Given the description of an element on the screen output the (x, y) to click on. 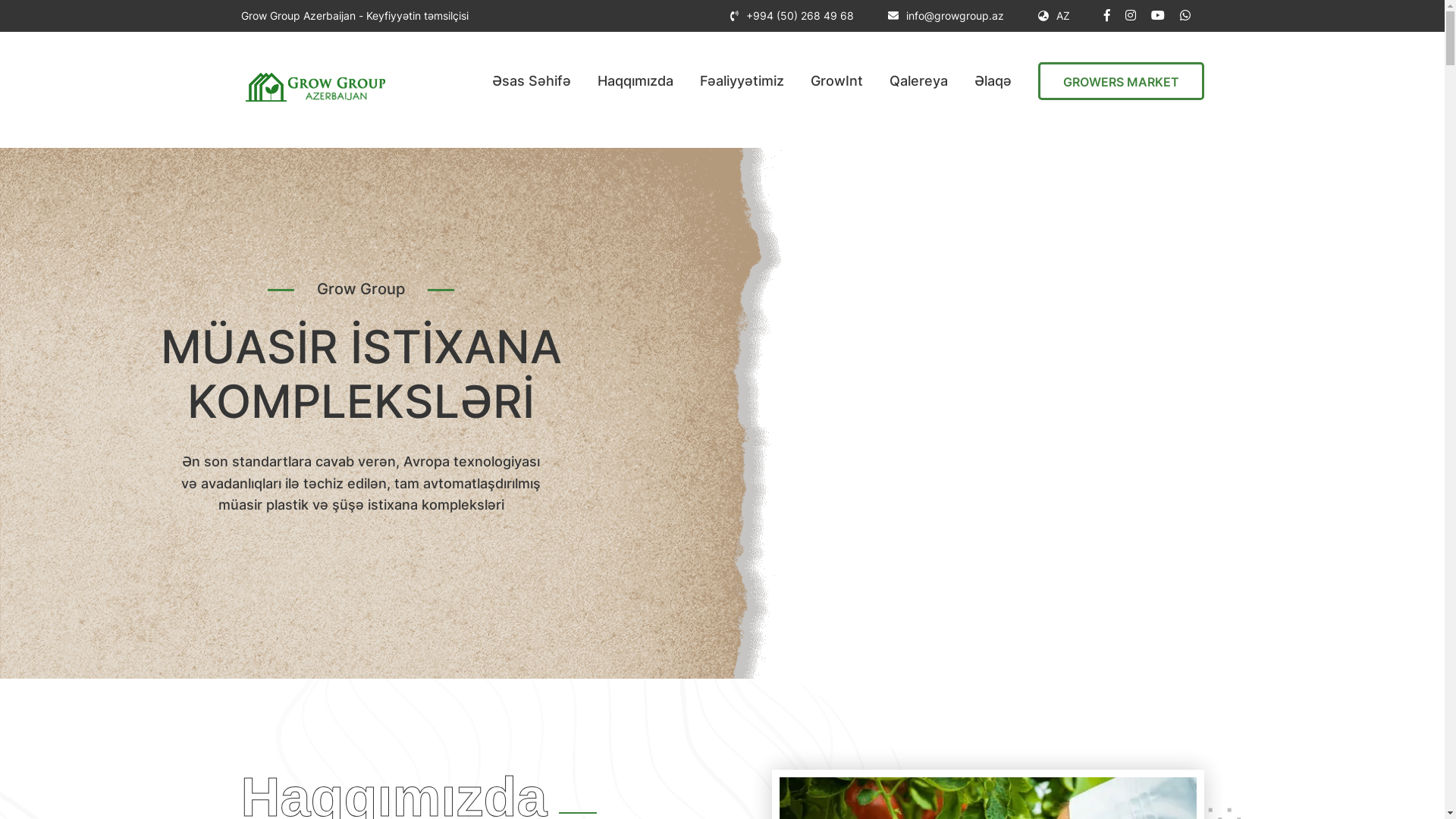
info@growgroup.az Element type: text (954, 15)
+994 (50) 268 49 68 Element type: text (799, 15)
GROWERS MARKET Element type: text (1120, 81)
AZ Element type: text (1053, 15)
GrowInt Element type: text (835, 80)
Qalereya Element type: text (917, 80)
